Given the description of an element on the screen output the (x, y) to click on. 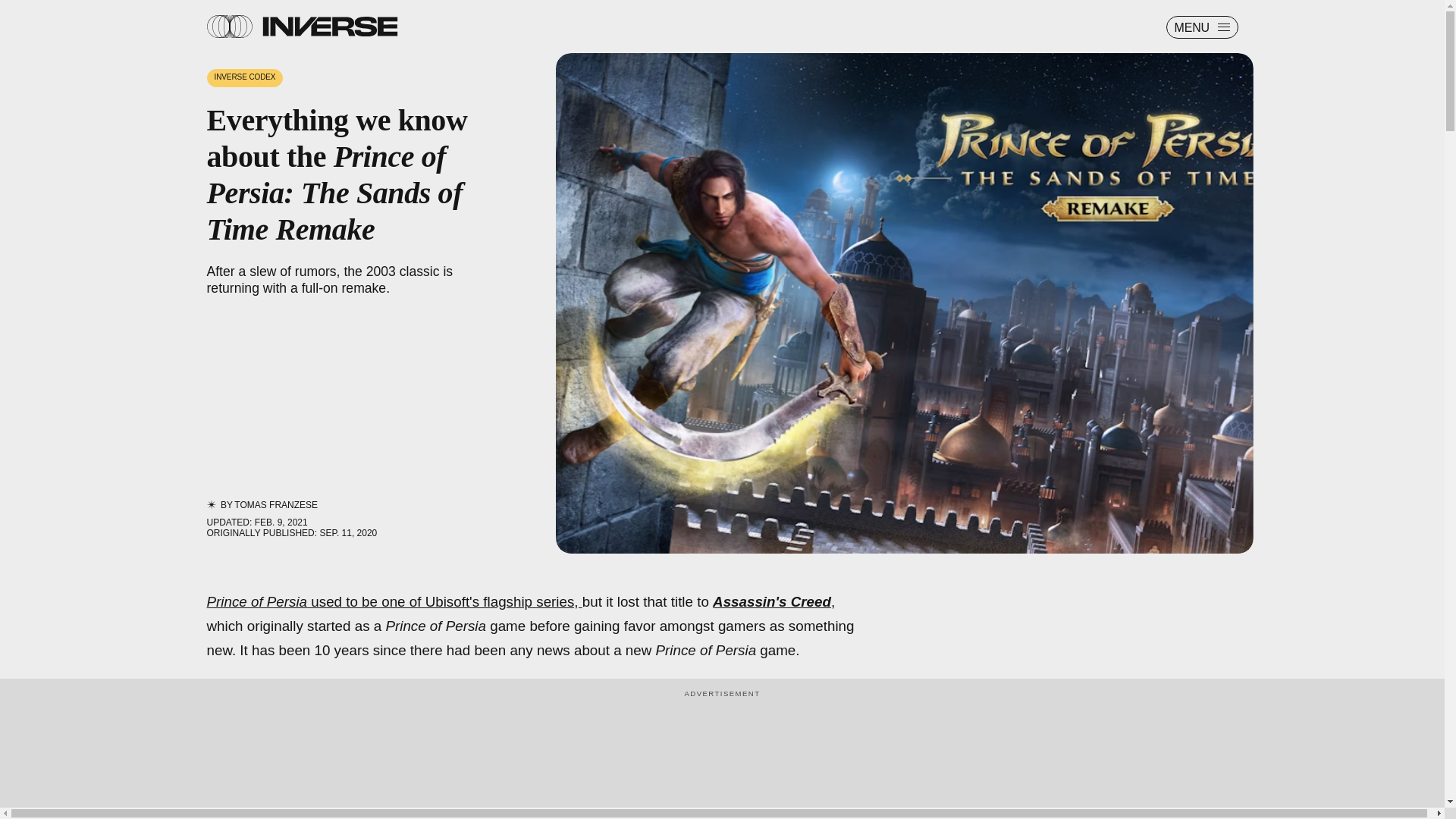
Inverse (328, 26)
TOMAS FRANZESE (275, 504)
Assassin's Creed (772, 601)
